Given the description of an element on the screen output the (x, y) to click on. 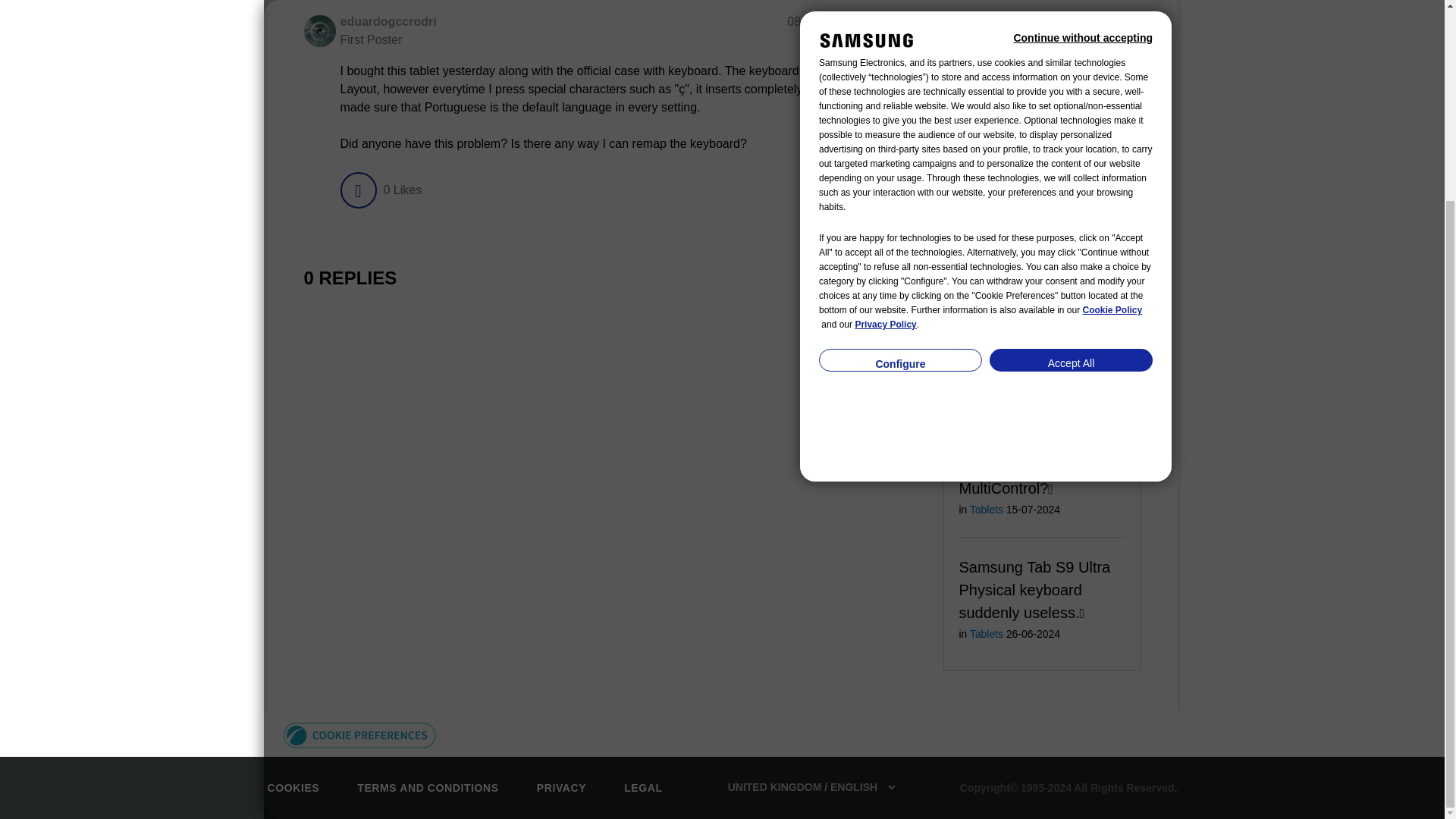
Tablets (986, 182)
Tab s6 lite (995, 340)
eduardogccrodri (318, 30)
REPLY (874, 190)
The total number of likes this post has received. (401, 189)
GALAXY S9 tab keyboard help (1012, 250)
Click here to give likes to this post. (357, 189)
eduardogccrodri (387, 21)
Tablets (986, 283)
Show option menu (912, 23)
